Given the description of an element on the screen output the (x, y) to click on. 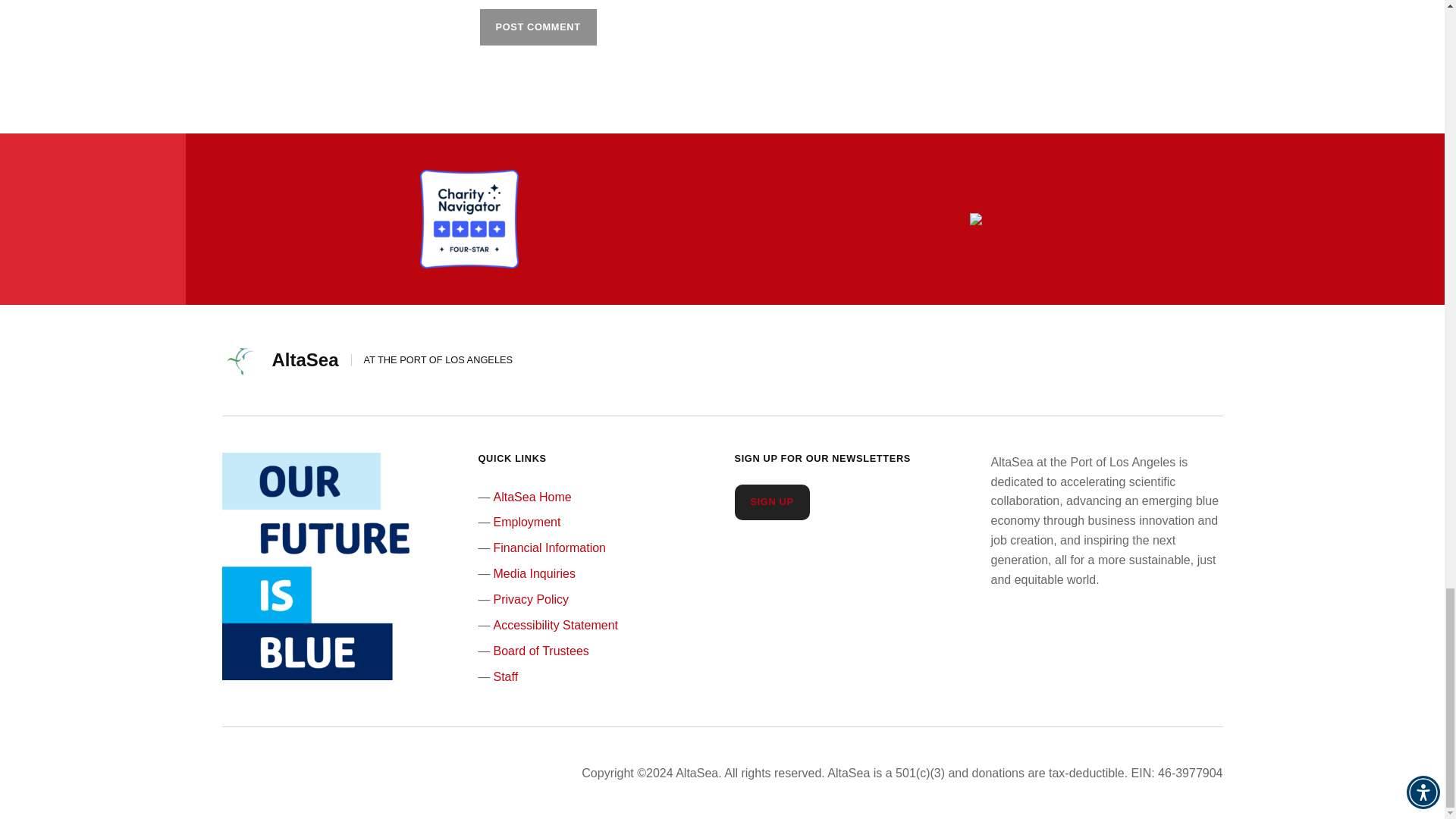
Post Comment (537, 27)
